Given the description of an element on the screen output the (x, y) to click on. 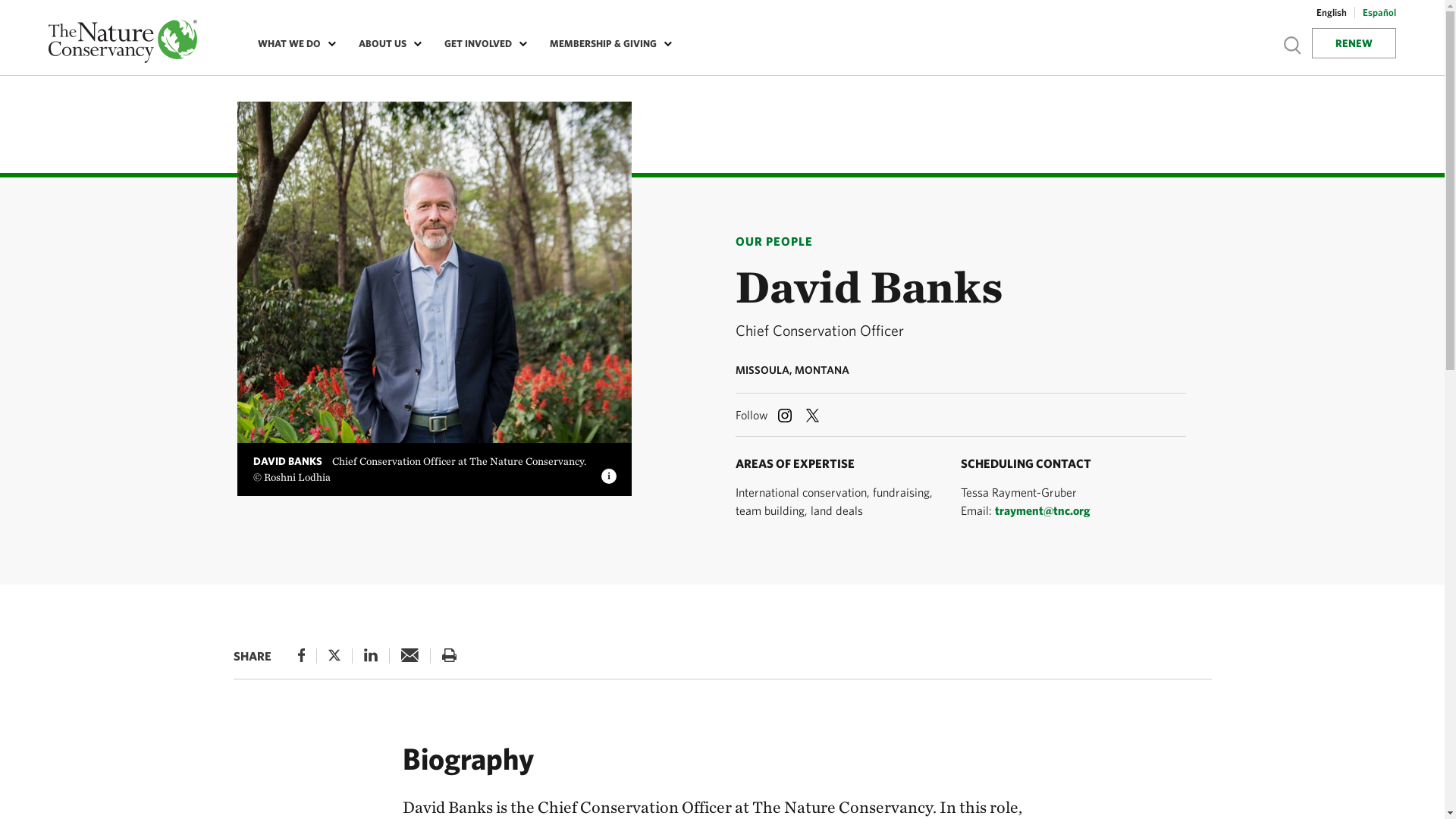
GET INVOLVED (481, 44)
English (1331, 13)
WHAT WE DO (293, 44)
ABOUT US (386, 44)
